Given the description of an element on the screen output the (x, y) to click on. 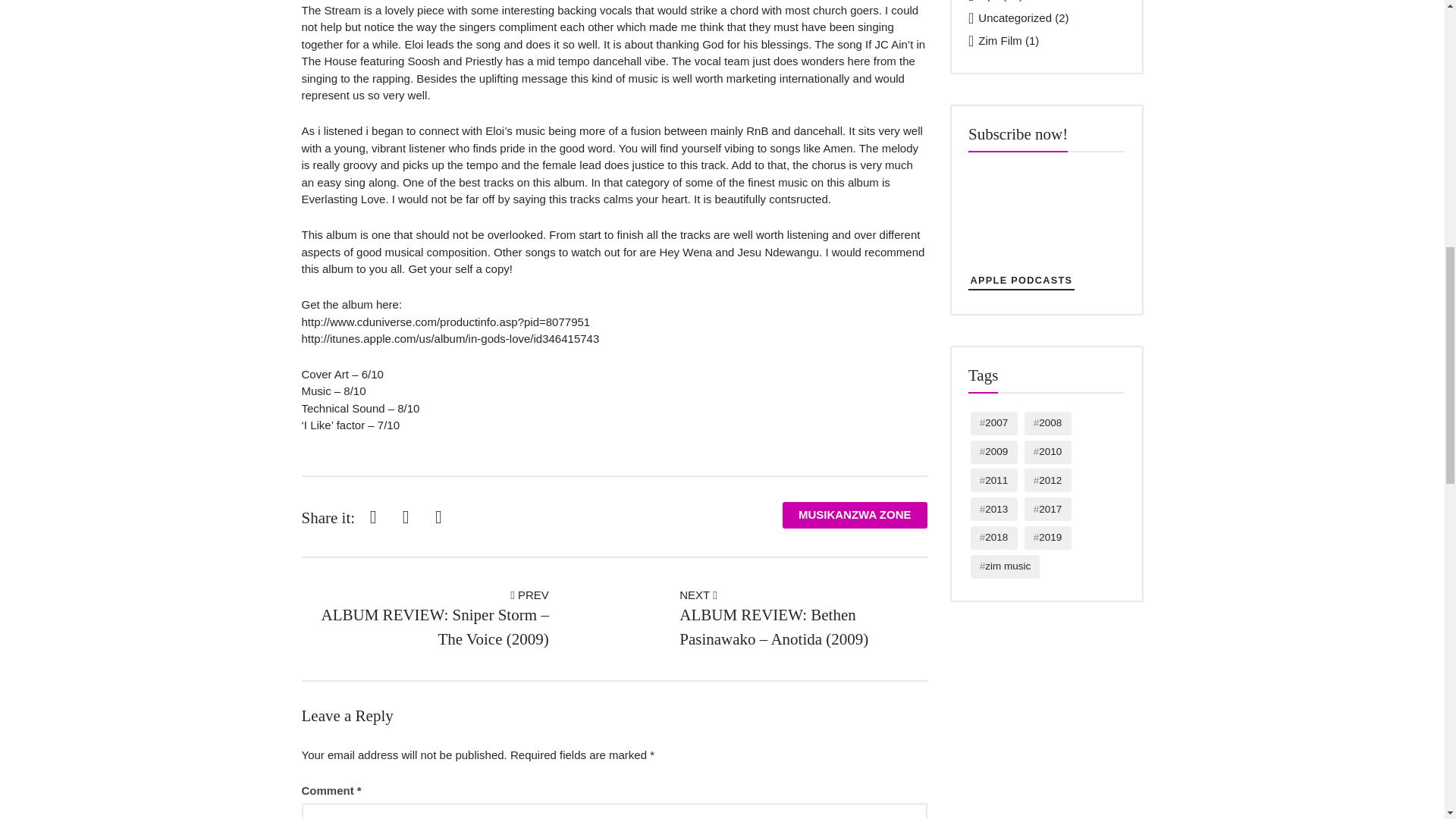
PREV (529, 594)
Zim Film (1000, 40)
APPLE PODCASTS (1021, 281)
2010 (1048, 452)
2008 (1048, 422)
2012 (1048, 480)
MUSIKANZWA ZONE (855, 515)
Uncategorized (1014, 17)
NEXT (697, 594)
2009 (994, 452)
